Given the description of an element on the screen output the (x, y) to click on. 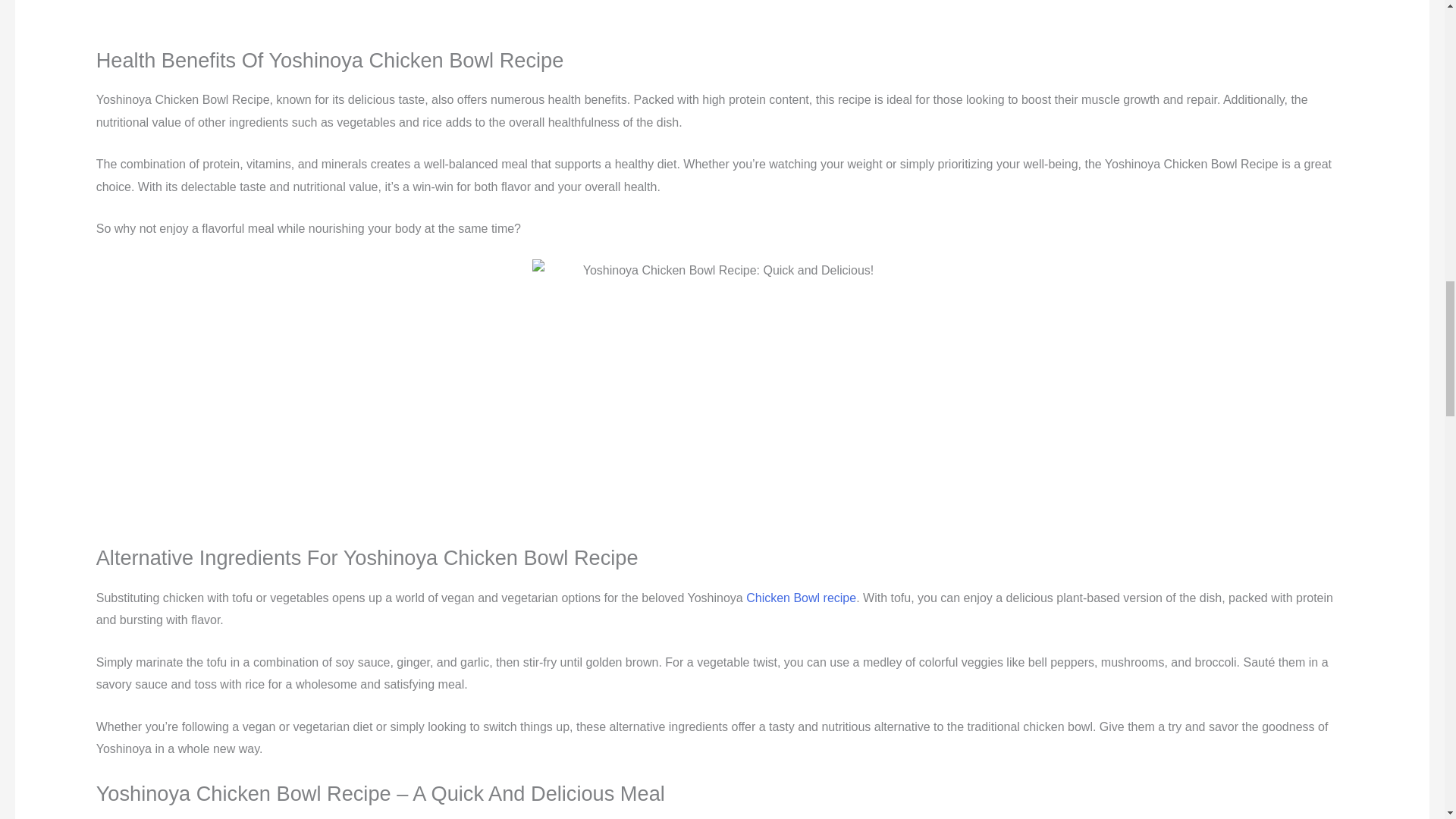
Chicken Bowl recipe (800, 597)
YouTube video player (721, 19)
